Given the description of an element on the screen output the (x, y) to click on. 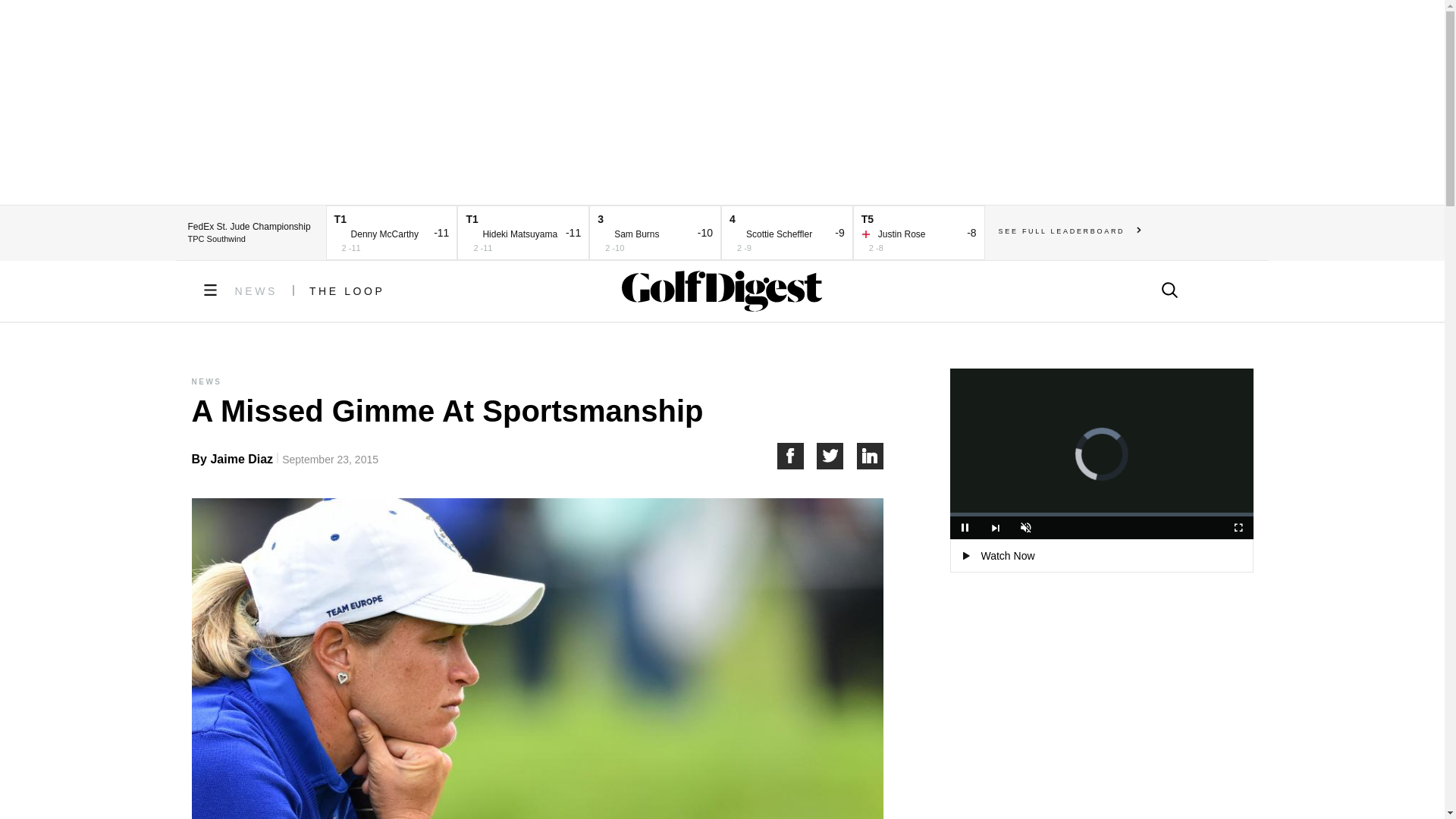
NEWS (256, 291)
Share on Twitter (836, 456)
Share on LinkedIn (870, 456)
Share on Facebook (796, 456)
Next playlist item (994, 527)
Pause (964, 527)
Fullscreen (1237, 527)
Unmute (1025, 527)
SEE FULL LEADERBOARD (1069, 230)
THE LOOP (346, 291)
